Given the description of an element on the screen output the (x, y) to click on. 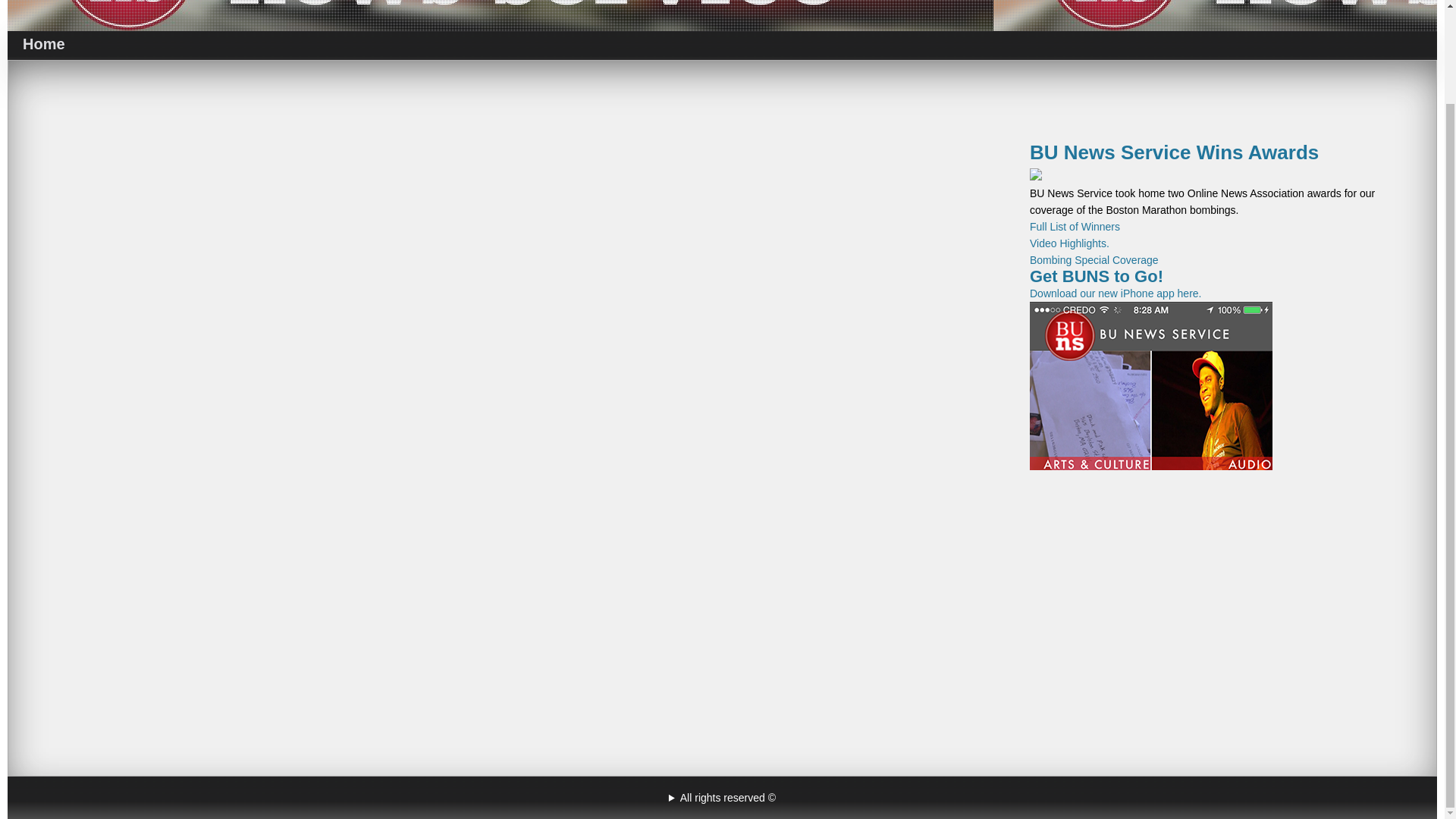
Bombing Special Coverage (1093, 259)
Download our new iPhone app here. (1150, 379)
Full List of Winners (1074, 226)
Home (43, 44)
Video Highlights. (1069, 243)
